Given the description of an element on the screen output the (x, y) to click on. 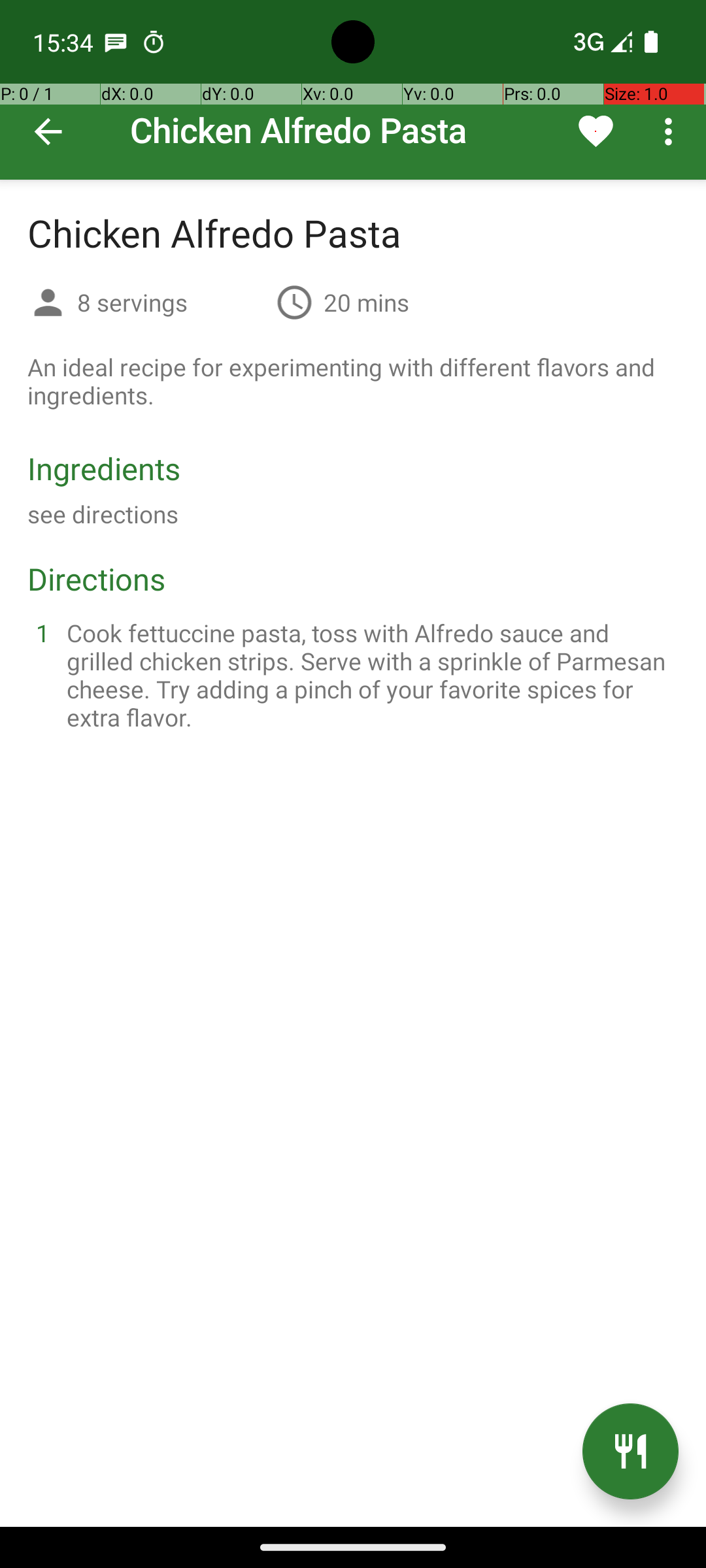
Cook fettuccine pasta, toss with Alfredo sauce and grilled chicken strips. Serve with a sprinkle of Parmesan cheese. Try adding a pinch of your favorite spices for extra flavor. Element type: android.widget.TextView (368, 674)
